Given the description of an element on the screen output the (x, y) to click on. 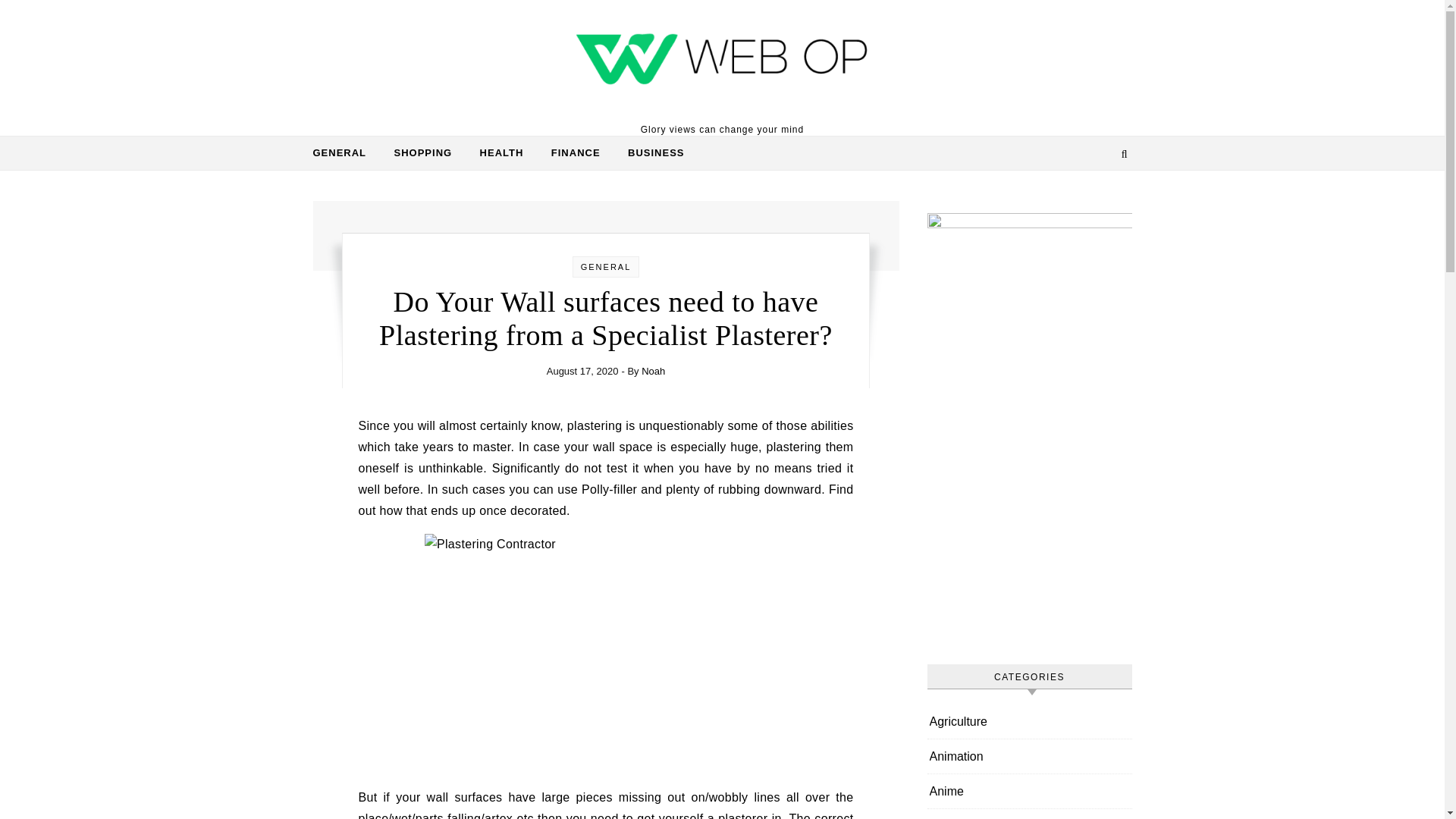
Agriculture (958, 721)
GENERAL (605, 266)
Web Op (721, 61)
BUSINESS (649, 152)
Anime (946, 790)
Animation (957, 756)
Noah (653, 370)
SHOPPING (422, 152)
Application (959, 814)
GENERAL (345, 152)
